Given the description of an element on the screen output the (x, y) to click on. 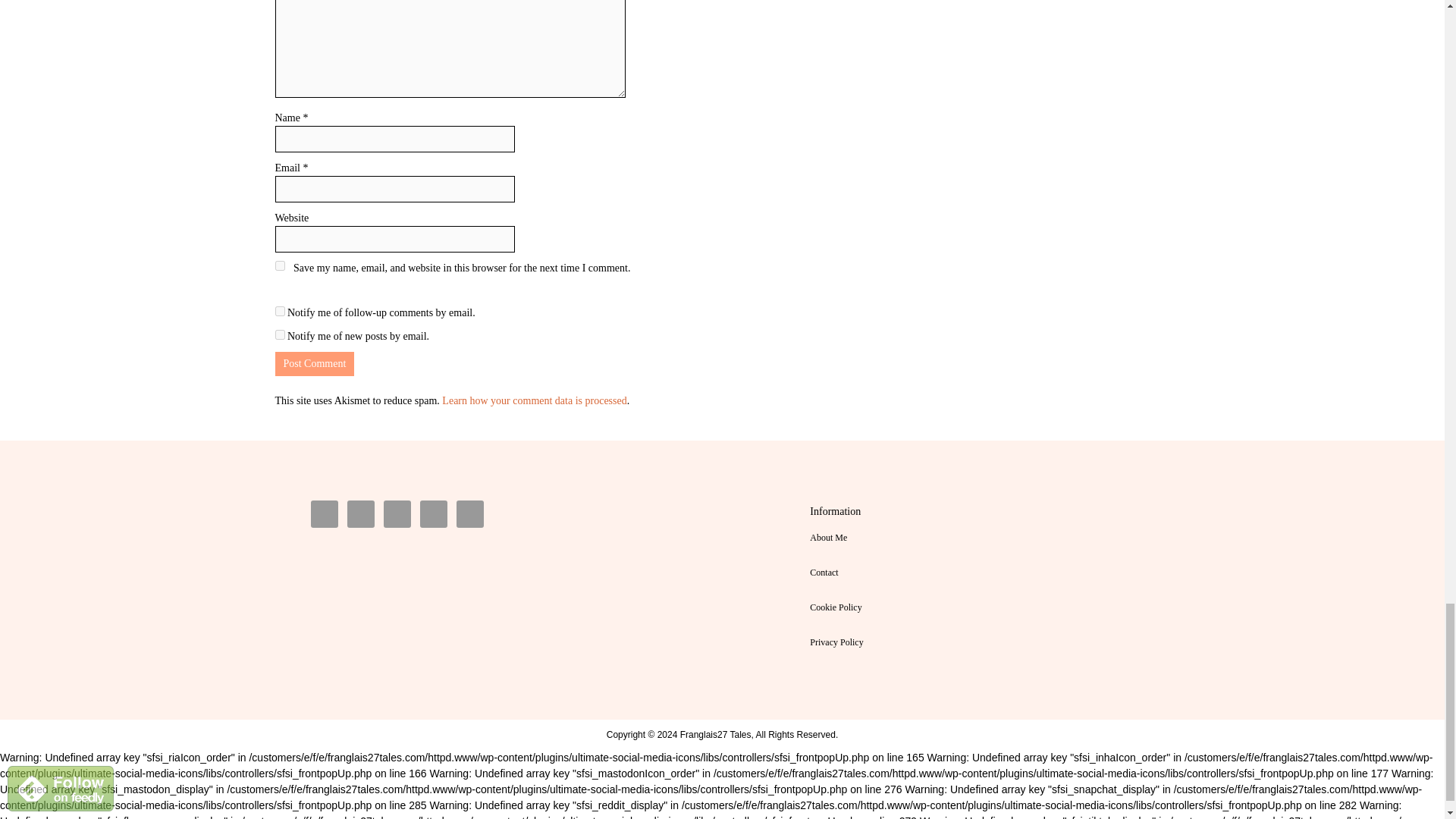
Please wait until Google reCAPTCHA is loaded. (314, 363)
subscribe (279, 311)
Post Comment (314, 363)
subscribe (279, 334)
Post Comment (314, 363)
yes (279, 266)
